Given the description of an element on the screen output the (x, y) to click on. 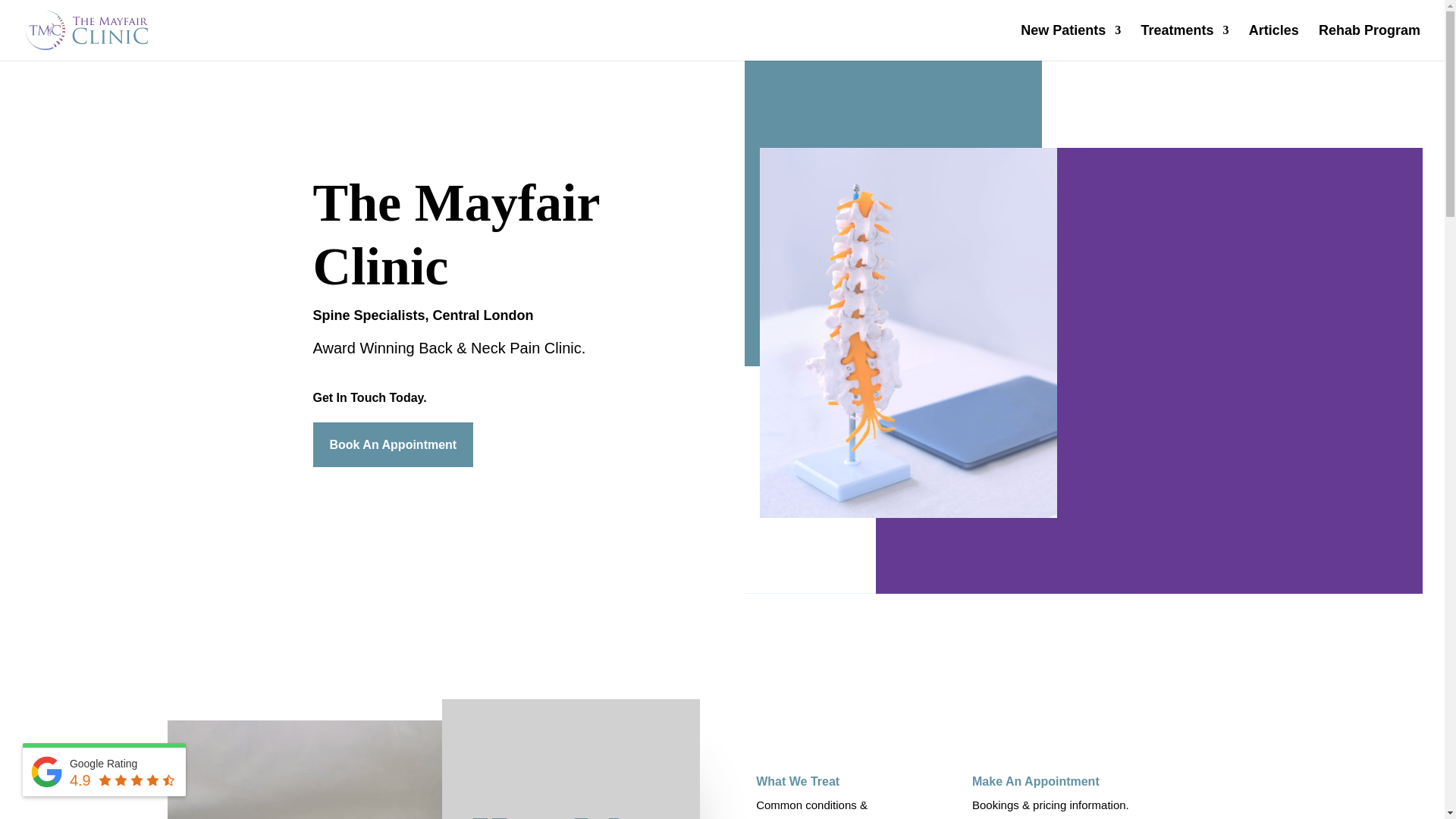
New Patients (1070, 42)
Book An Appointment (393, 444)
Treatments (1184, 42)
Rehab Program (1370, 42)
Articles (1273, 42)
